Given the description of an element on the screen output the (x, y) to click on. 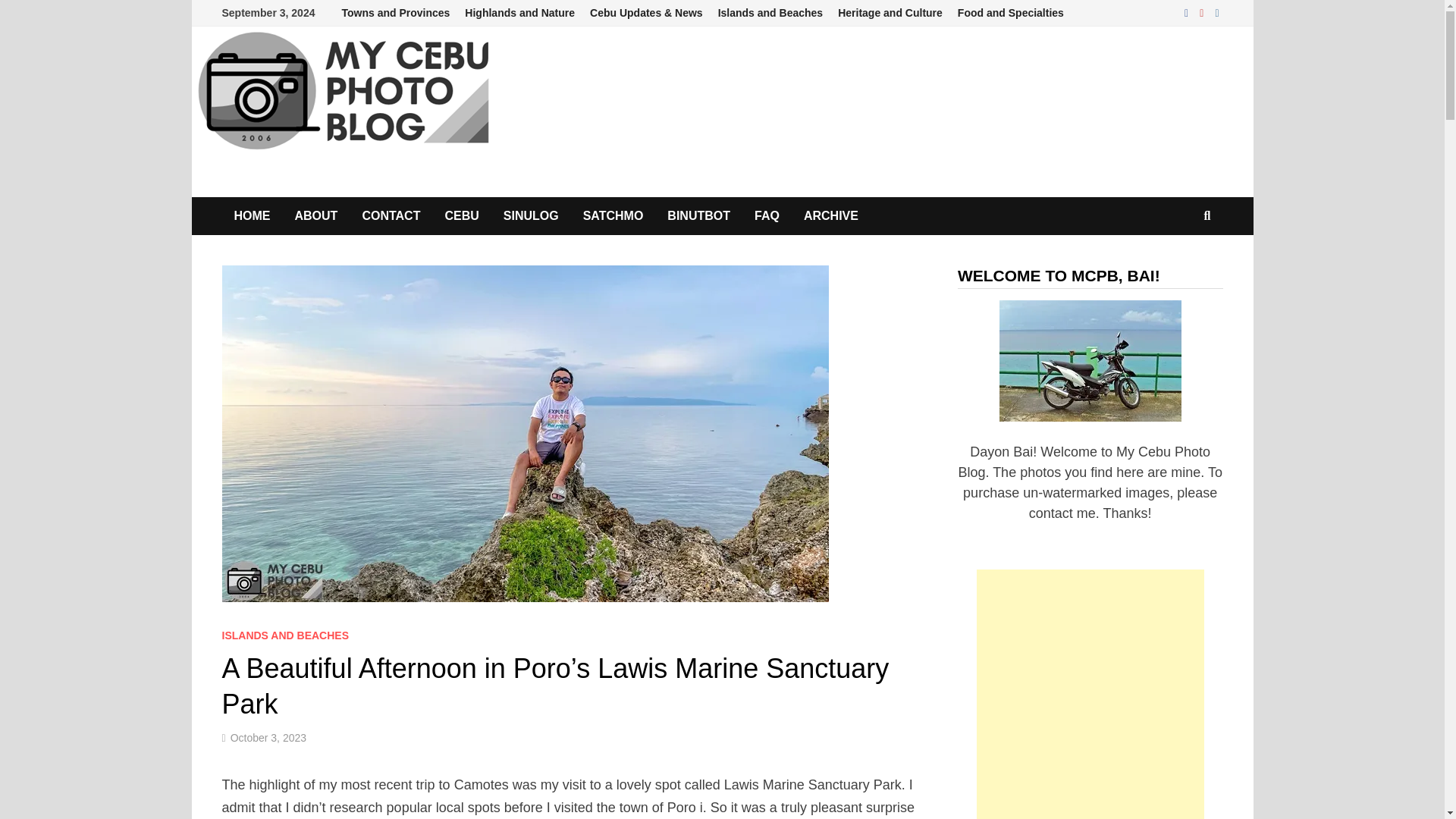
SINULOG (531, 216)
SATCHMO (613, 216)
Heritage and Culture (889, 13)
CONTACT (390, 216)
Towns and Provinces (395, 13)
FAQ (767, 216)
CEBU (461, 216)
BINUTBOT (698, 216)
HOME (251, 216)
Facebook (1187, 11)
